Given the description of an element on the screen output the (x, y) to click on. 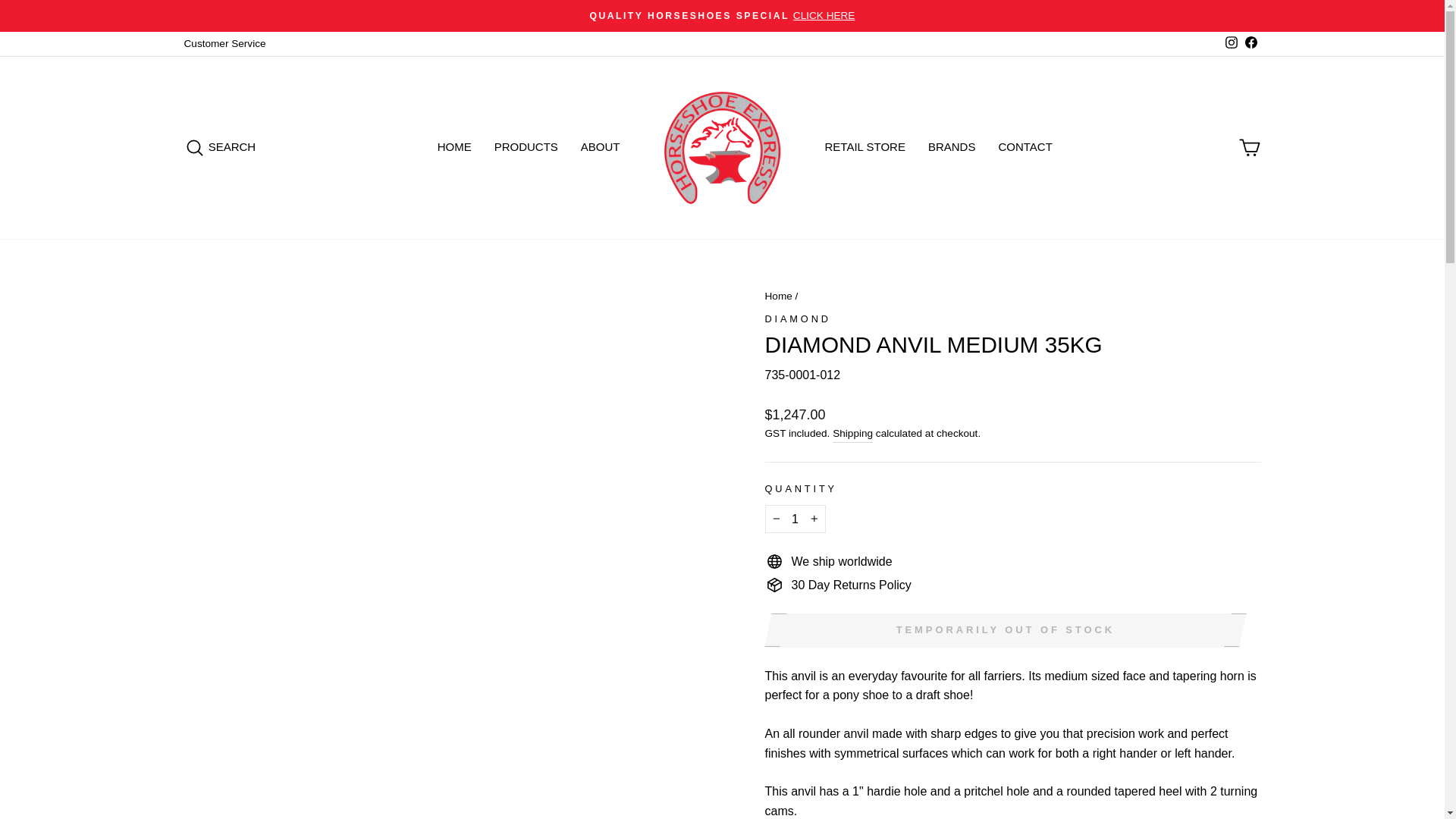
1 (794, 519)
Horseshoe Express on Facebook (1250, 43)
Horseshoe Express on Instagram (1230, 43)
Back to the frontpage (778, 295)
